Given the description of an element on the screen output the (x, y) to click on. 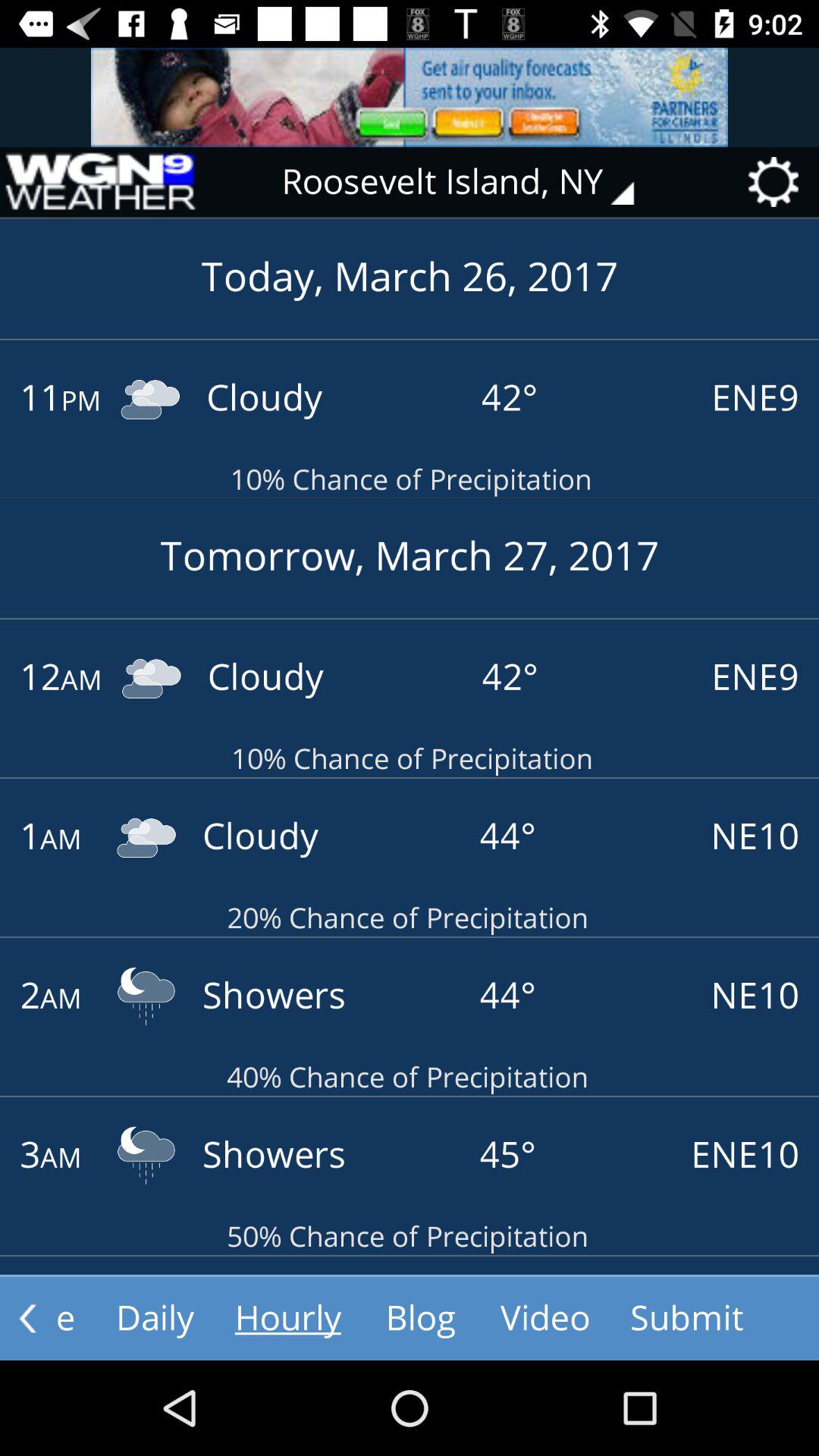
open advertisements url (409, 97)
